Given the description of an element on the screen output the (x, y) to click on. 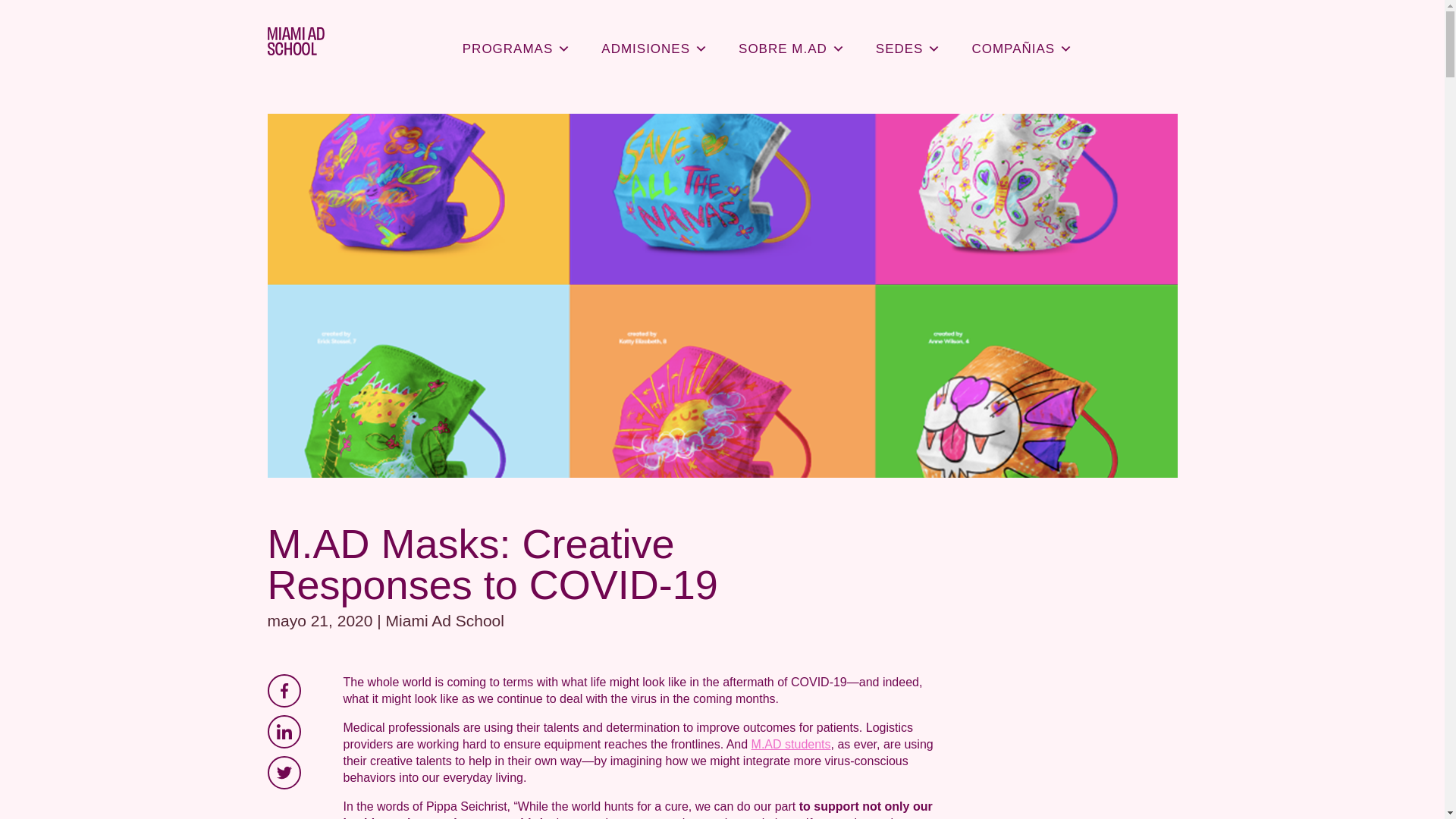
ADMISIONES (654, 41)
PROGRAMAS (516, 41)
SEDES (908, 41)
SOBRE M.AD (791, 41)
